Given the description of an element on the screen output the (x, y) to click on. 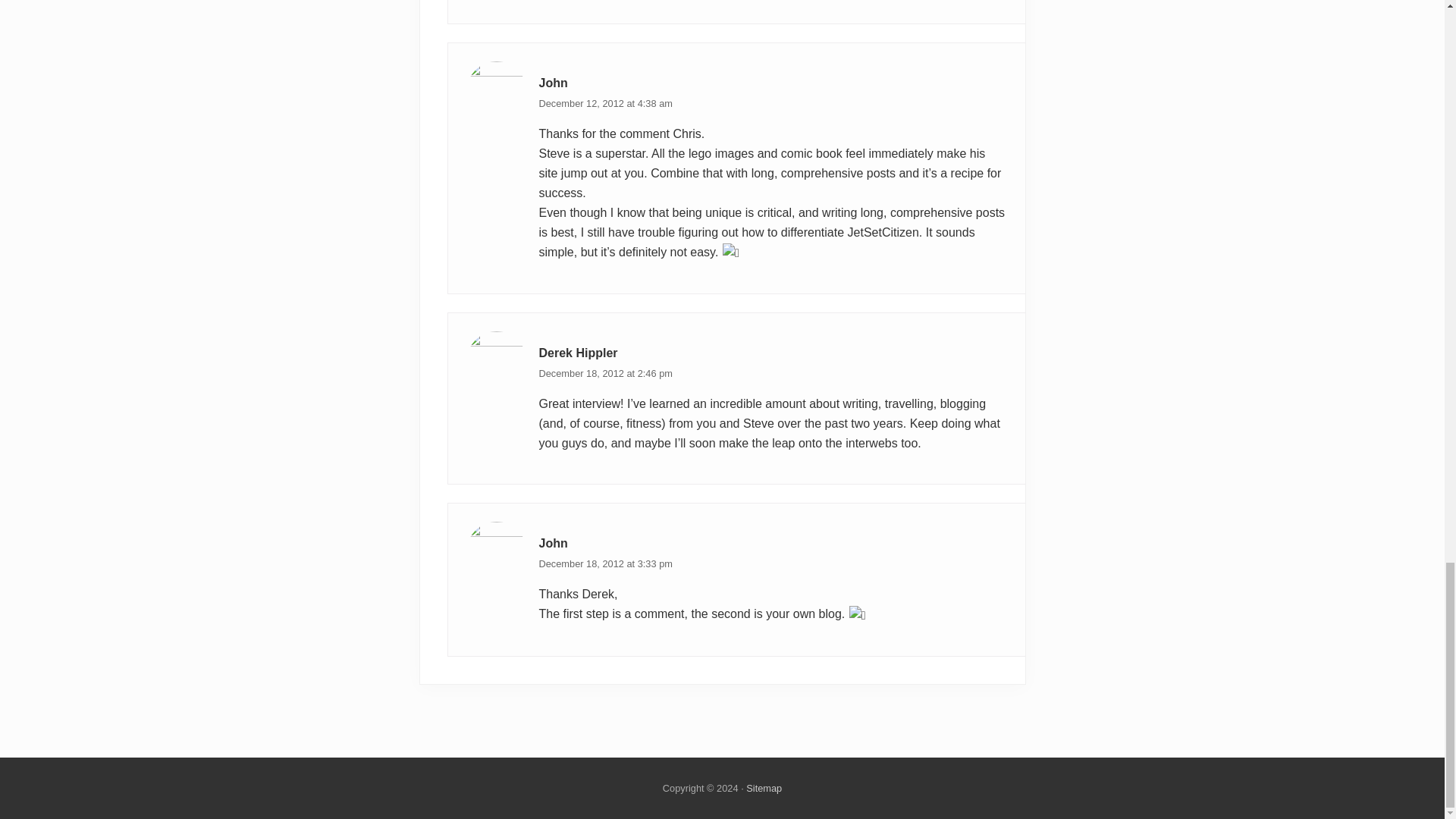
December 18, 2012 at 3:33 pm (604, 563)
John (552, 82)
December 18, 2012 at 2:46 pm (604, 373)
John (552, 543)
Sitemap (763, 787)
December 12, 2012 at 4:38 am (604, 102)
